Given the description of an element on the screen output the (x, y) to click on. 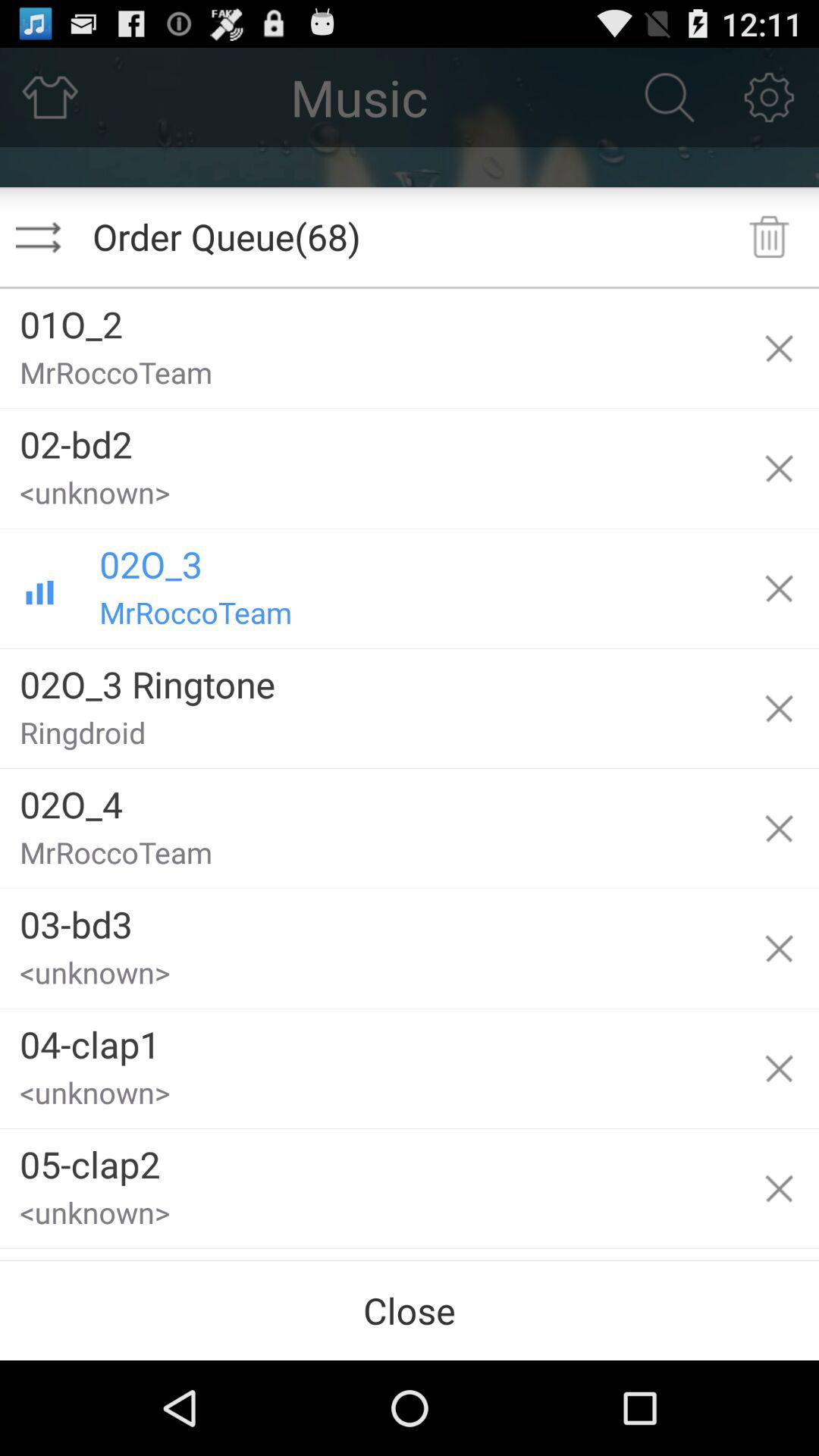
turn on 02-bd2 app (369, 438)
